Given the description of an element on the screen output the (x, y) to click on. 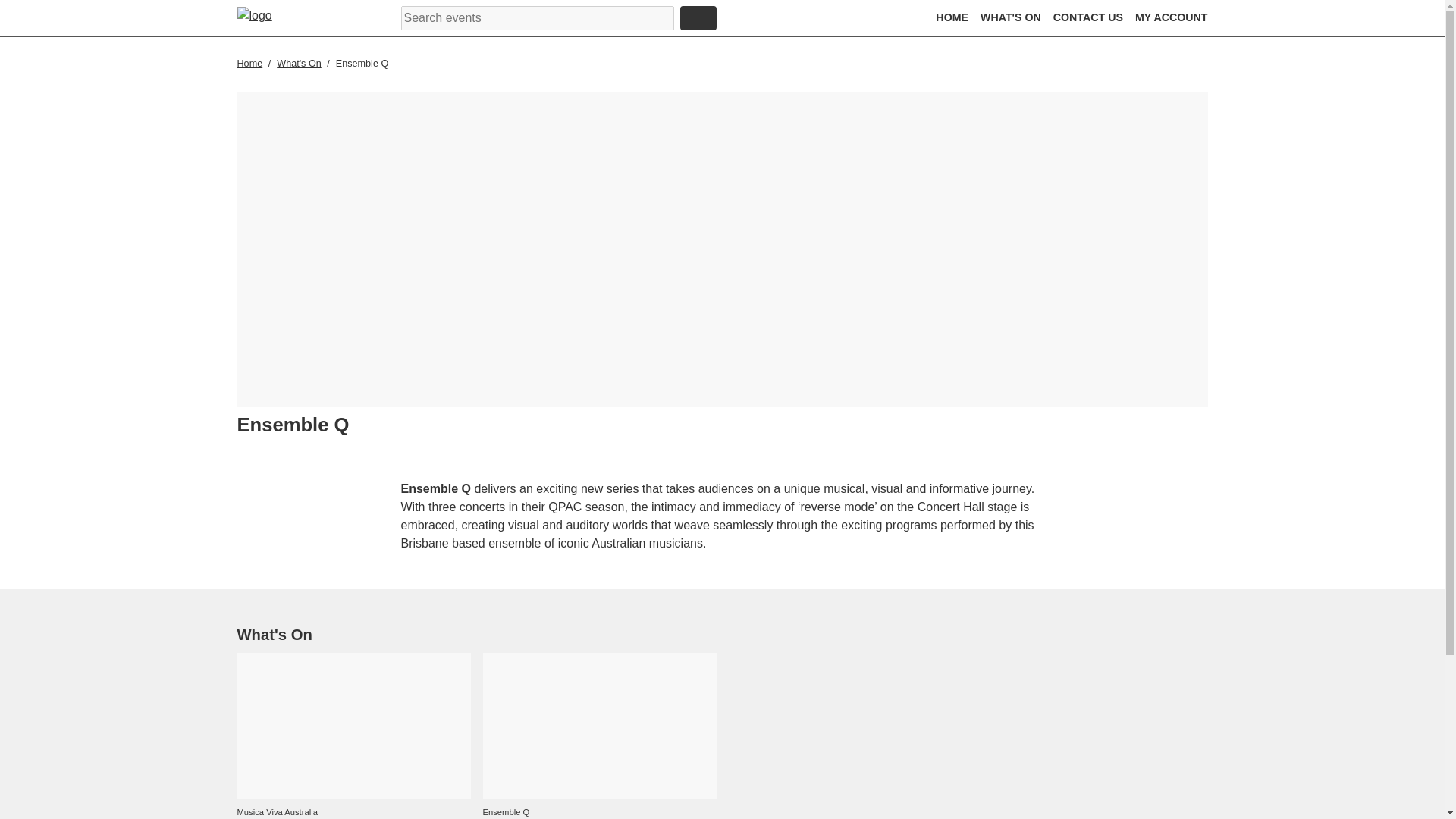
CONTACT US (1087, 17)
Go to QTIX Home Page (266, 17)
Home (249, 63)
What's On (300, 63)
WHAT'S ON (1010, 17)
Launch accessibility tool (787, 19)
HOME (952, 17)
MY ACCOUNT (1171, 17)
